Given the description of an element on the screen output the (x, y) to click on. 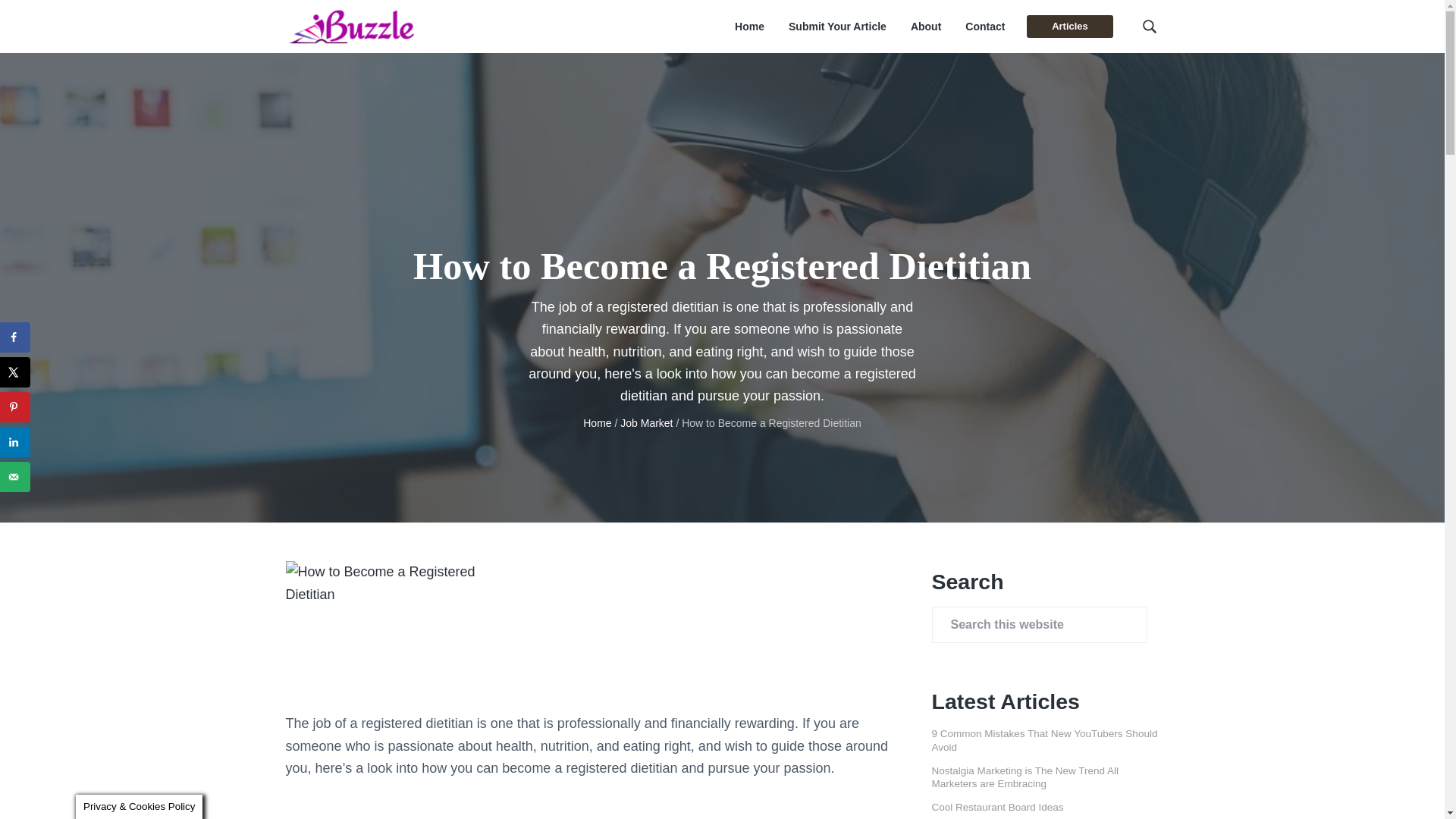
Cool Restaurant Board Ideas (996, 807)
Home (597, 422)
9 Common Mistakes That New YouTubers Should Avoid (1044, 740)
Save to Pinterest (15, 407)
Share on Facebook (15, 337)
Submit Your Article (837, 27)
Home (749, 27)
Search (60, 18)
Contact (984, 27)
Share on X (15, 372)
Job Market (646, 422)
Articles (1068, 25)
Share on LinkedIn (15, 441)
